Given the description of an element on the screen output the (x, y) to click on. 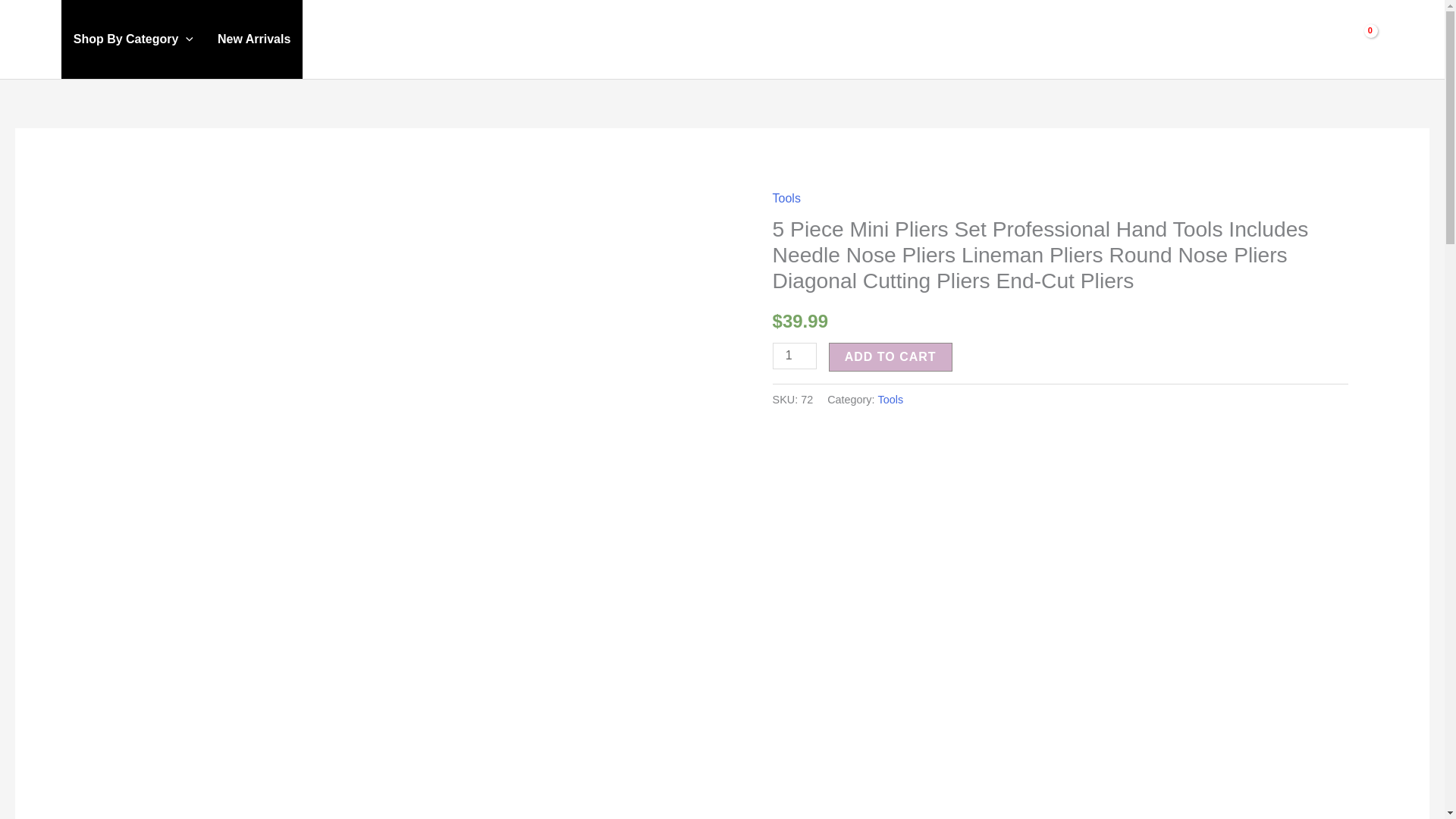
ADD TO CART (890, 357)
Search (38, 39)
Tools (890, 399)
New Arrivals (253, 39)
About Us (1202, 39)
1 (794, 356)
Contact Us (1285, 39)
Tools (786, 197)
Shop By Category (133, 39)
